Given the description of an element on the screen output the (x, y) to click on. 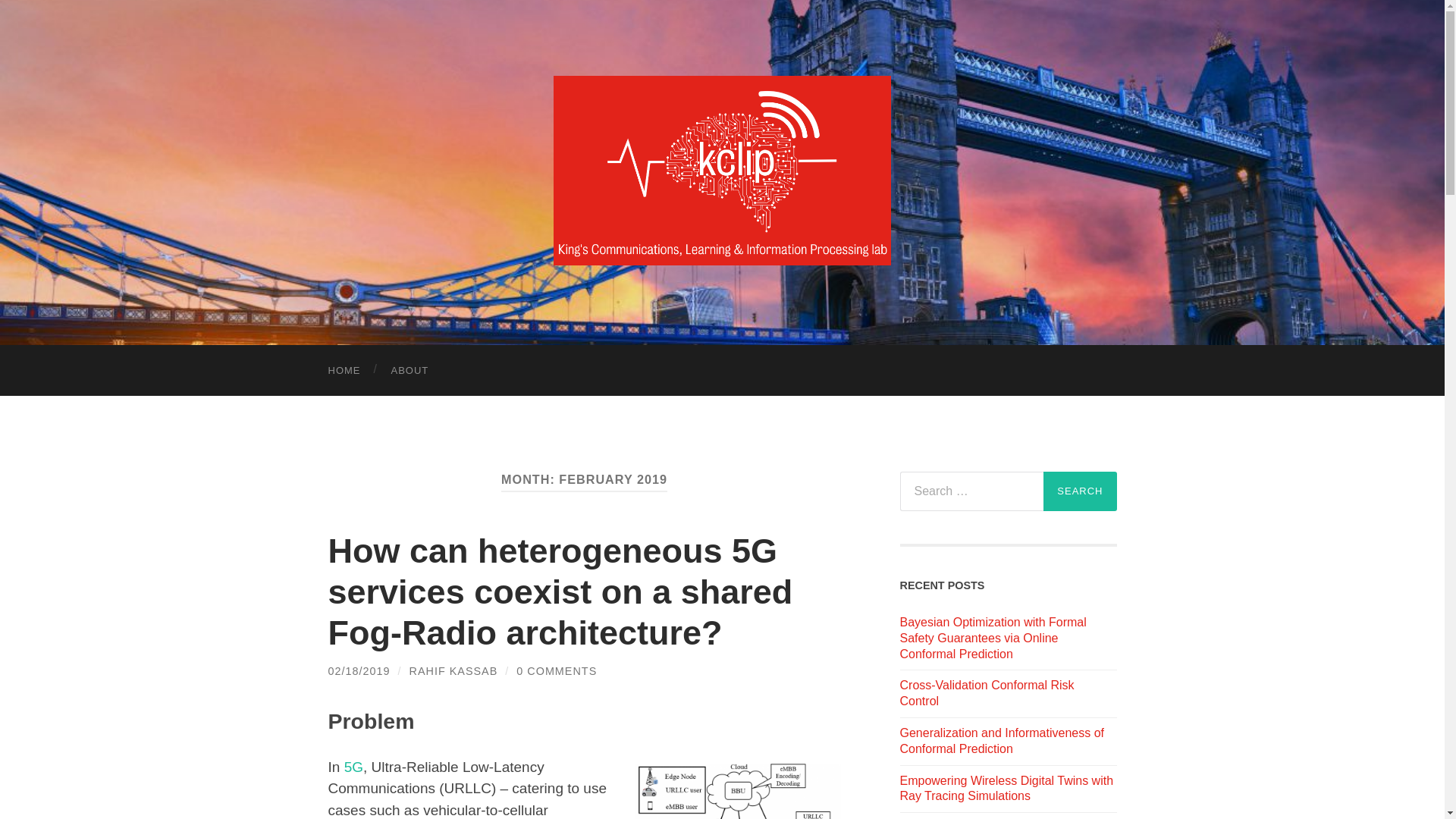
0 COMMENTS (556, 671)
Search (1079, 491)
Cross-Validation Conformal Risk Control (1007, 694)
5G (352, 766)
Search (1079, 491)
RAHIF KASSAB (453, 671)
Generalization and Informativeness of Conformal Prediction (1007, 741)
ABOUT (409, 369)
HOME (344, 369)
Search (1079, 491)
Posts by Rahif Kassab (453, 671)
